Given the description of an element on the screen output the (x, y) to click on. 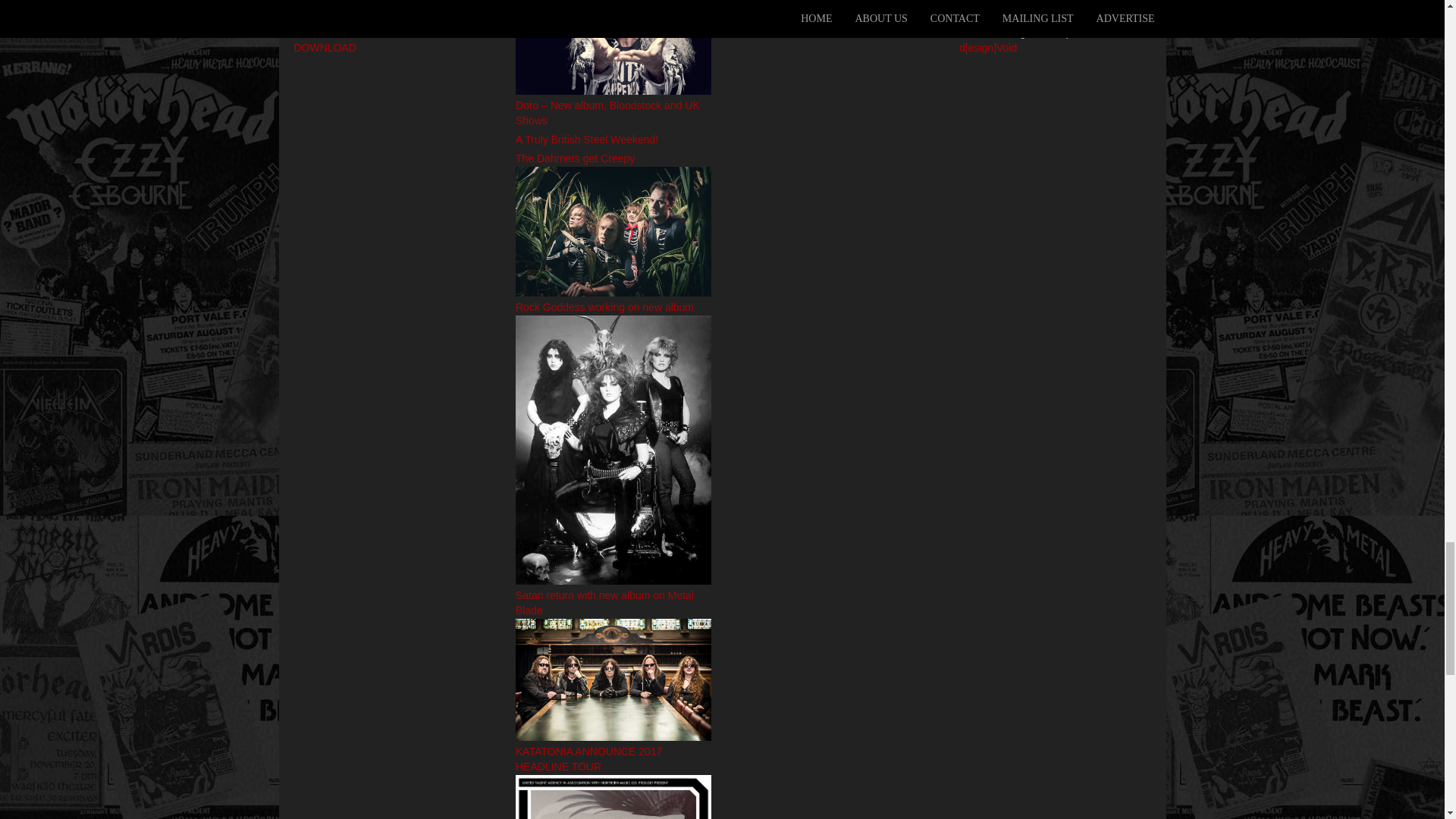
The Dahmers get Creepy (613, 231)
Satan return with new album on Metal Blade (613, 680)
